Given the description of an element on the screen output the (x, y) to click on. 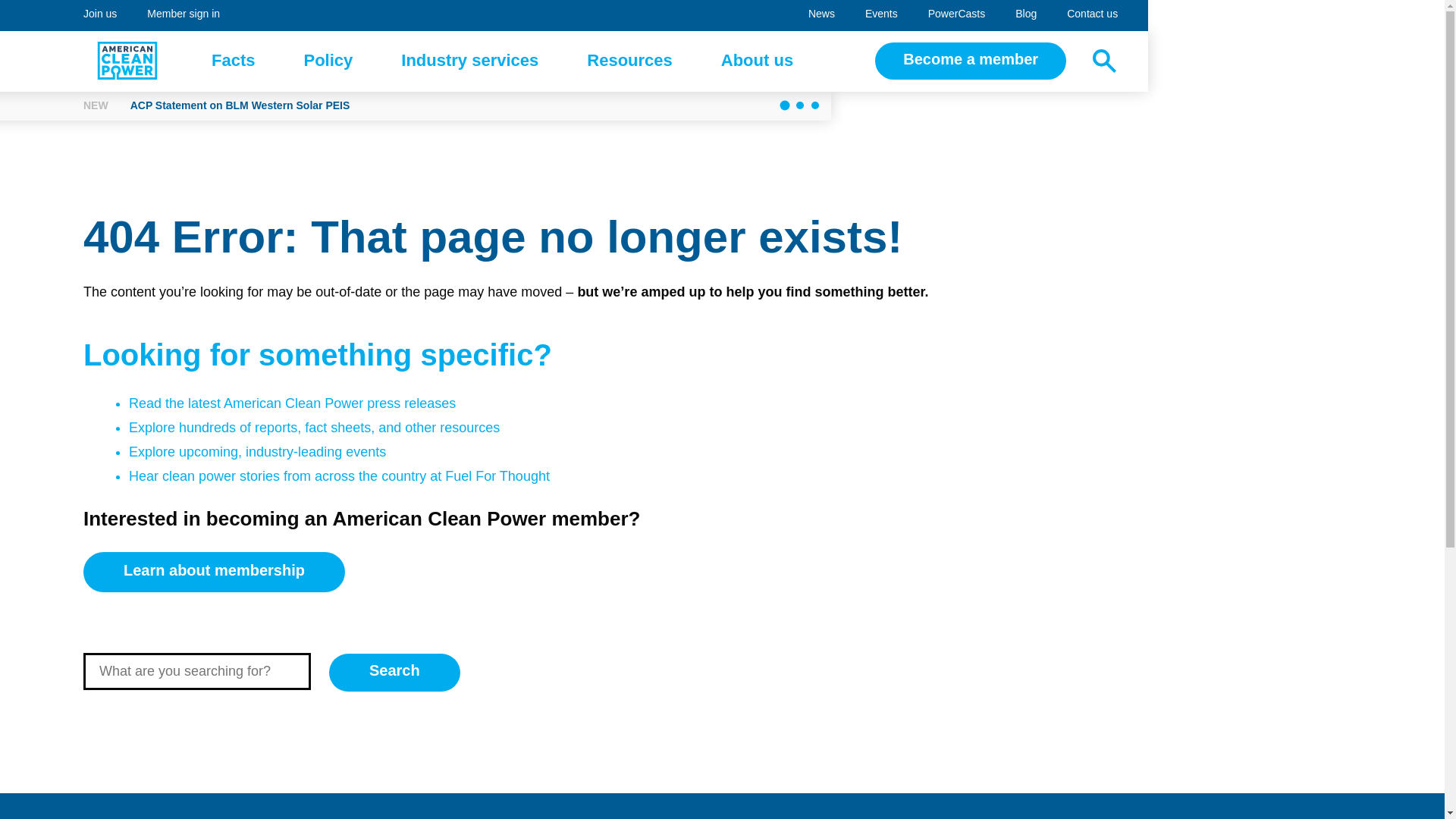
Member sign in (183, 15)
PowerCasts (233, 60)
ACP (956, 15)
Blog (127, 60)
Events (1025, 15)
Contact us (881, 15)
News (1091, 15)
Policy (821, 15)
